Given the description of an element on the screen output the (x, y) to click on. 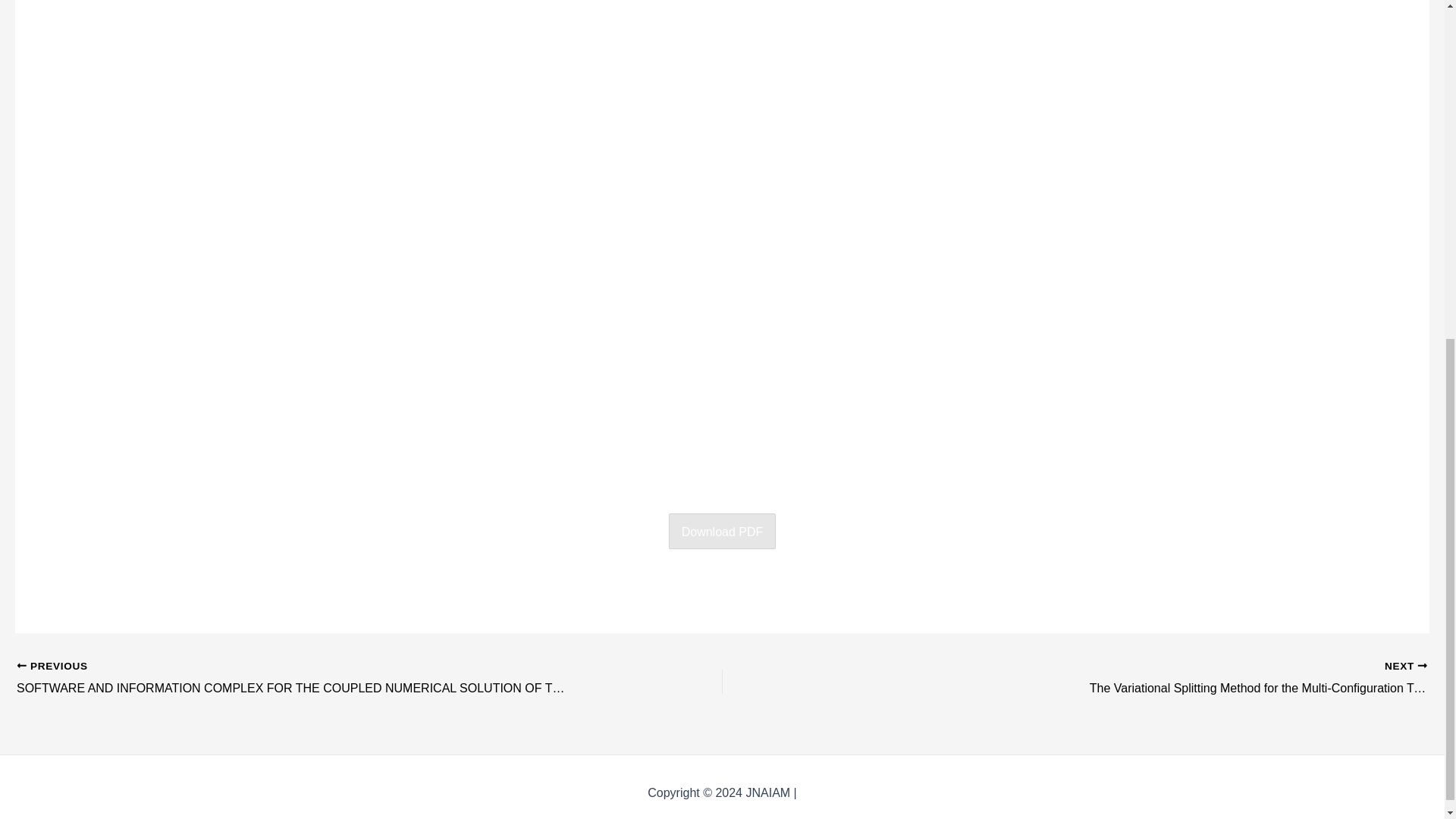
Download PDF (722, 531)
